Given the description of an element on the screen output the (x, y) to click on. 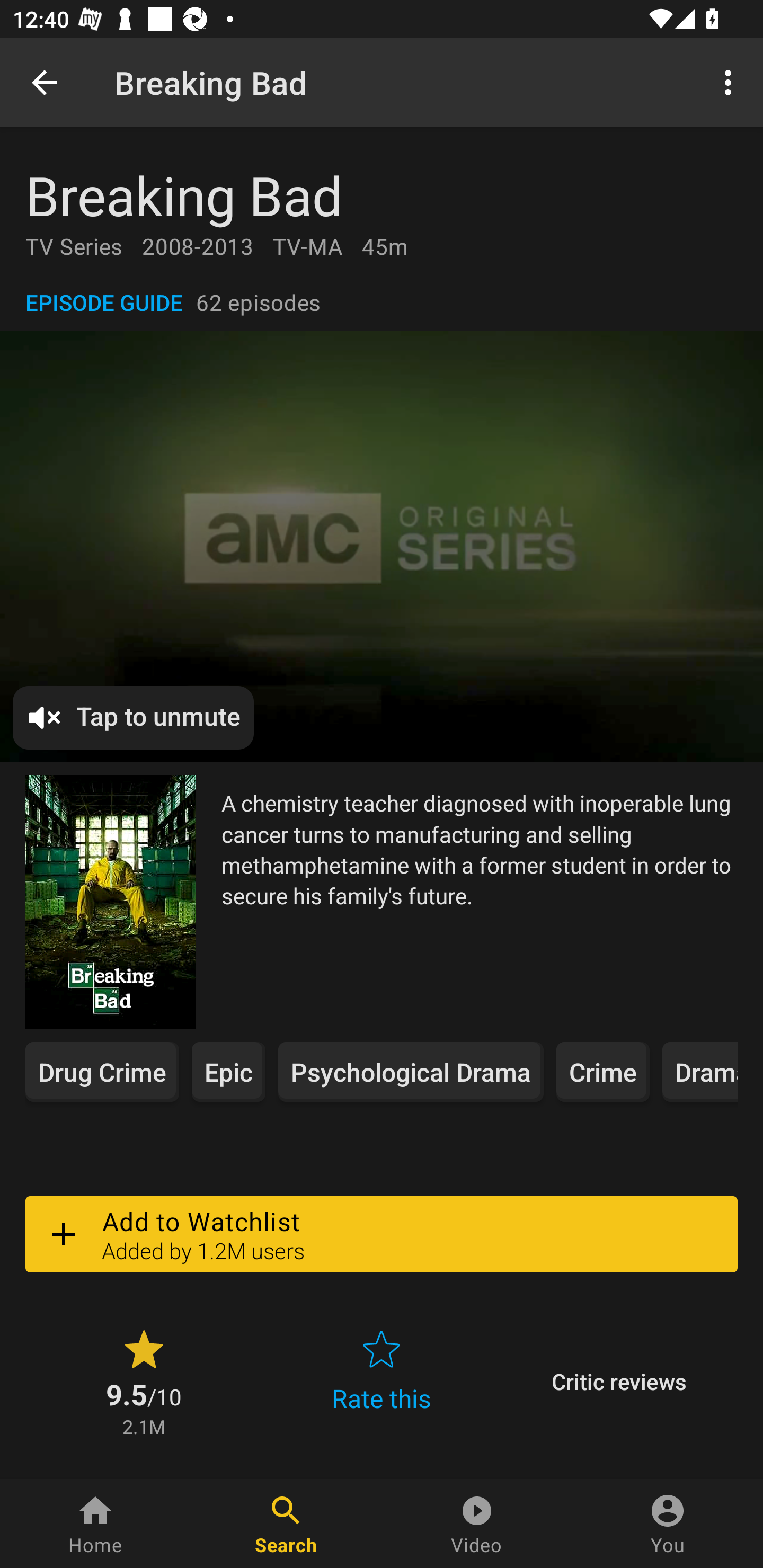
More options (731, 81)
EPISODE GUIDE 62 episodes (381, 302)
Tap to unmute (381, 546)
Tap to unmute (133, 717)
Drug Crime (102, 1072)
Epic (228, 1072)
Psychological Drama (410, 1072)
Crime (602, 1072)
Drama (699, 1072)
Add to Watchlist Added by 1.2M users (381, 1234)
9.5 /10 2.1M (143, 1381)
Rate this (381, 1381)
Critic reviews (618, 1381)
Home (95, 1523)
Video (476, 1523)
You (667, 1523)
